Given the description of an element on the screen output the (x, y) to click on. 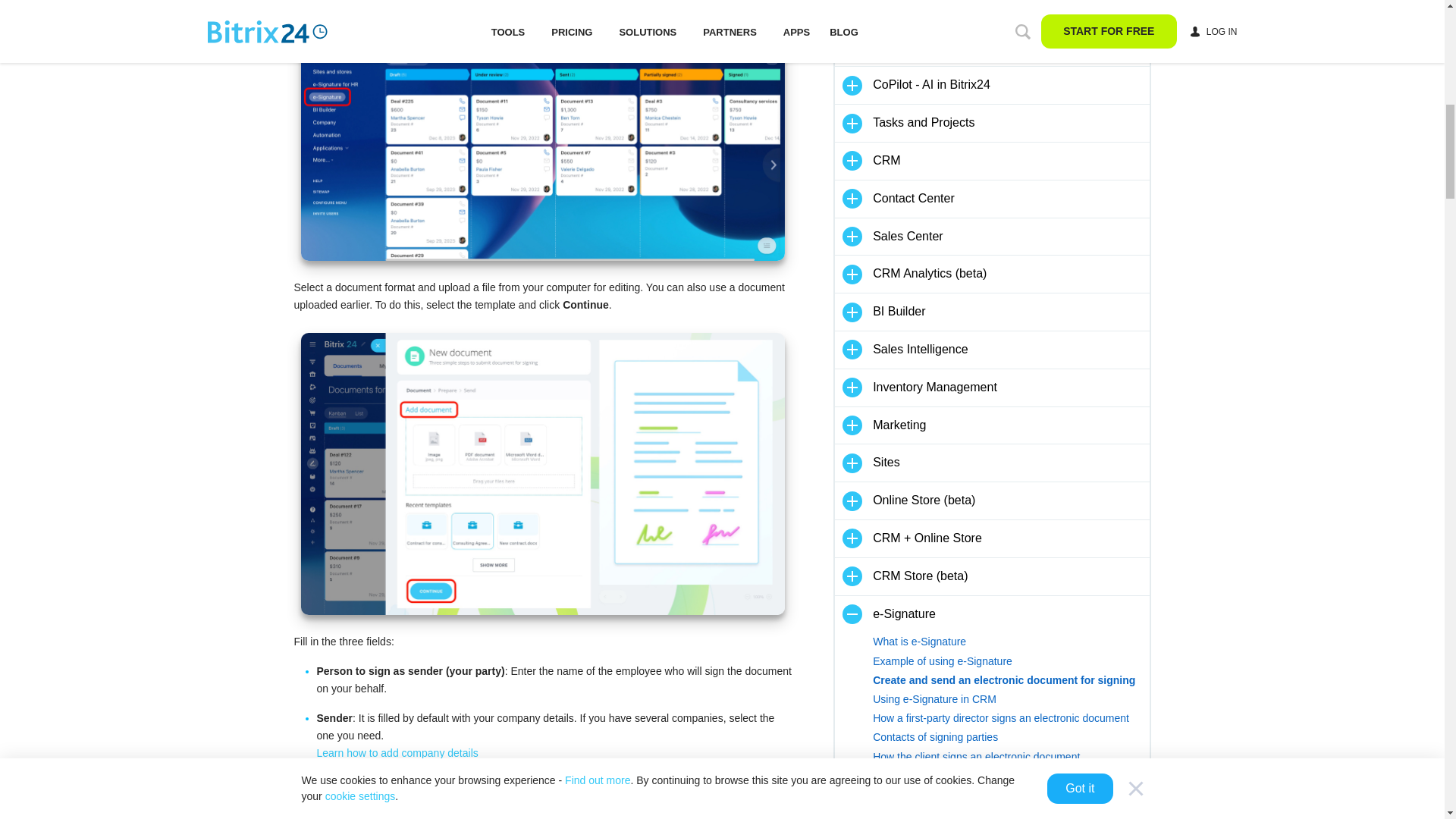
Learn how to add company details (398, 752)
What is e-Signature (1010, 641)
Automation in e-Signature (1010, 811)
Contacts of signing parties (1010, 737)
Document integrity check (1010, 775)
How the client signs an electronic document (1010, 756)
Control the process of working with documents (1010, 794)
Example of using e-Signature (1010, 660)
Create and send an electronic document for signing (1010, 680)
How a first-party director signs an electronic document (1010, 718)
Create document (541, 130)
Using e-Signature in CRM (1010, 699)
